Given the description of an element on the screen output the (x, y) to click on. 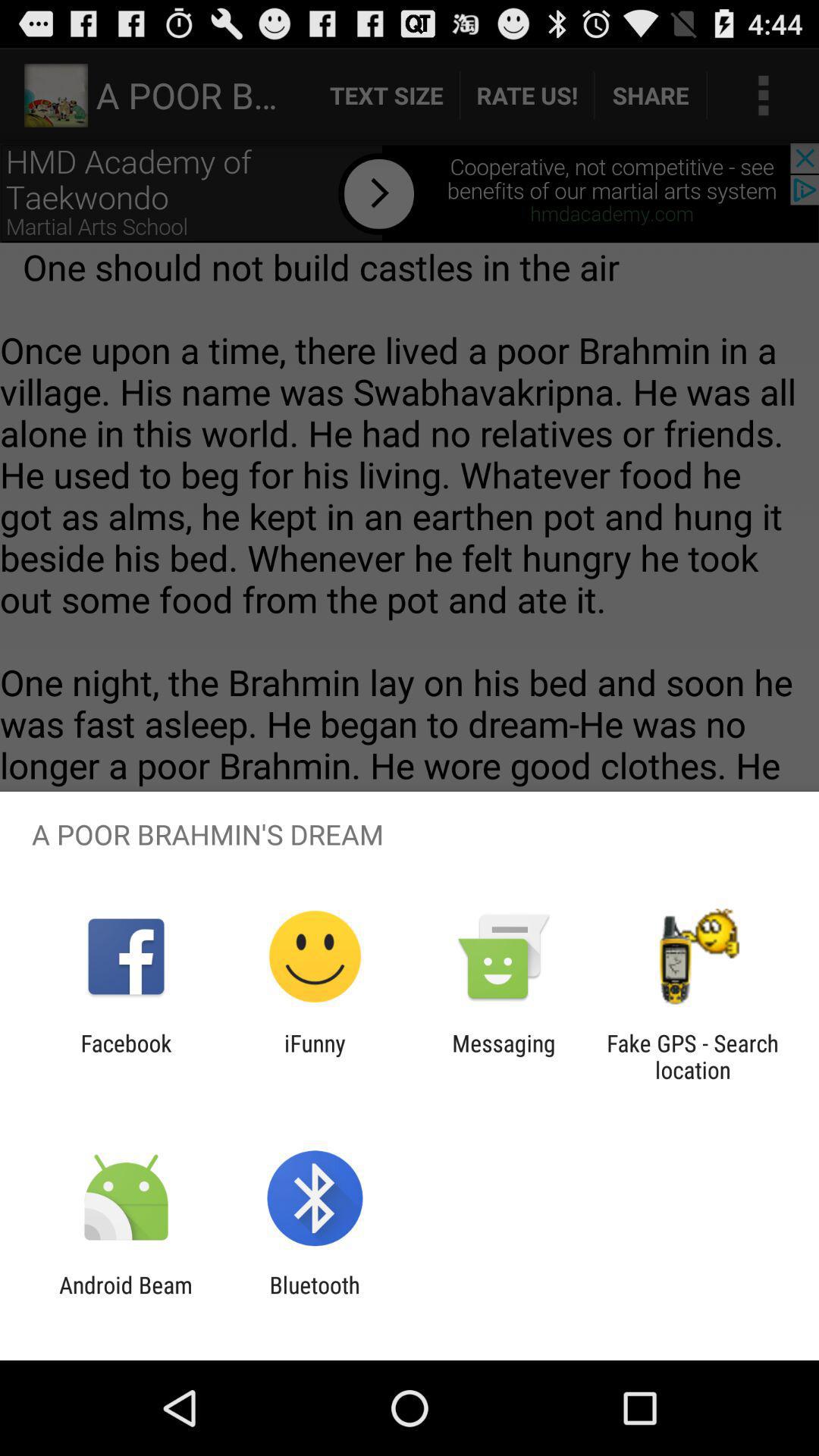
turn off app next to messaging (314, 1056)
